Given the description of an element on the screen output the (x, y) to click on. 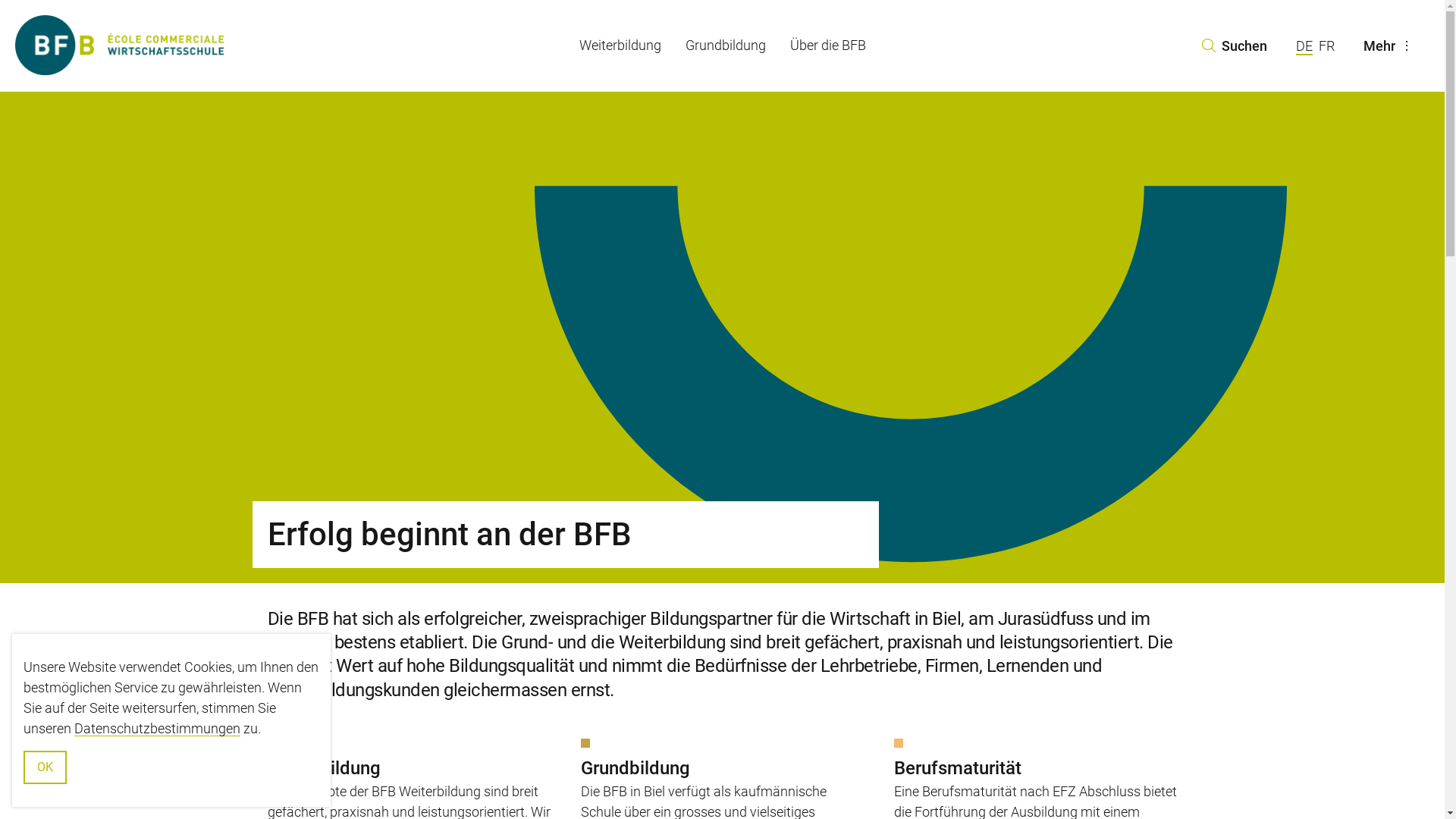
Grundbildung Element type: text (725, 45)
Weiterbildung Element type: text (620, 45)
OK Element type: text (44, 767)
FR Element type: text (1325, 45)
Mehr Element type: text (1389, 44)
Datenschutzbestimmungen Element type: text (157, 728)
DE Element type: text (1303, 46)
Suchen Element type: text (1233, 44)
